Given the description of an element on the screen output the (x, y) to click on. 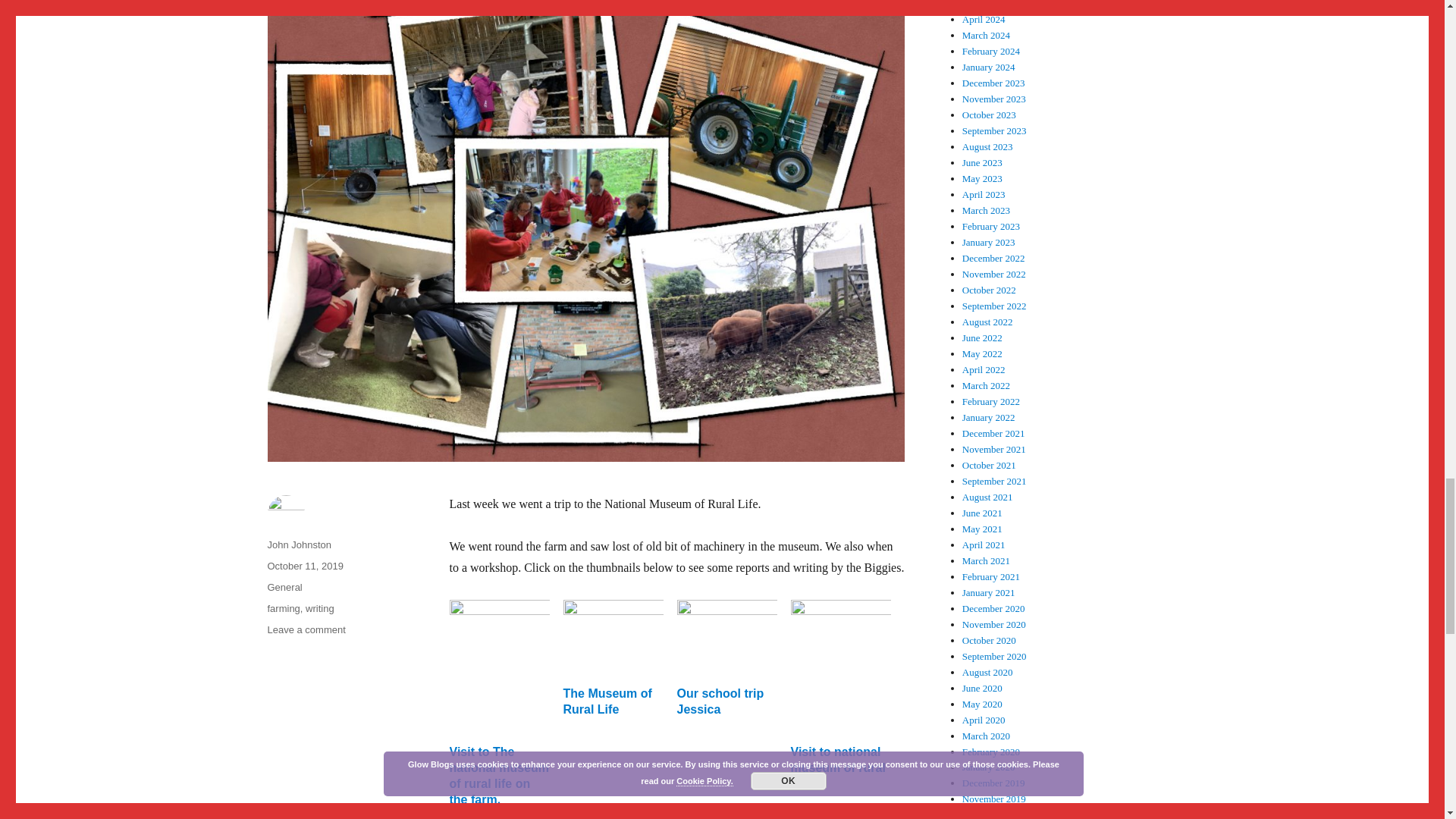
Visit to The national museum of rural life on the farm. (498, 775)
The Museum of Rural Life (606, 701)
Visit to The national museum of rural life on the farm. (498, 775)
